Given the description of an element on the screen output the (x, y) to click on. 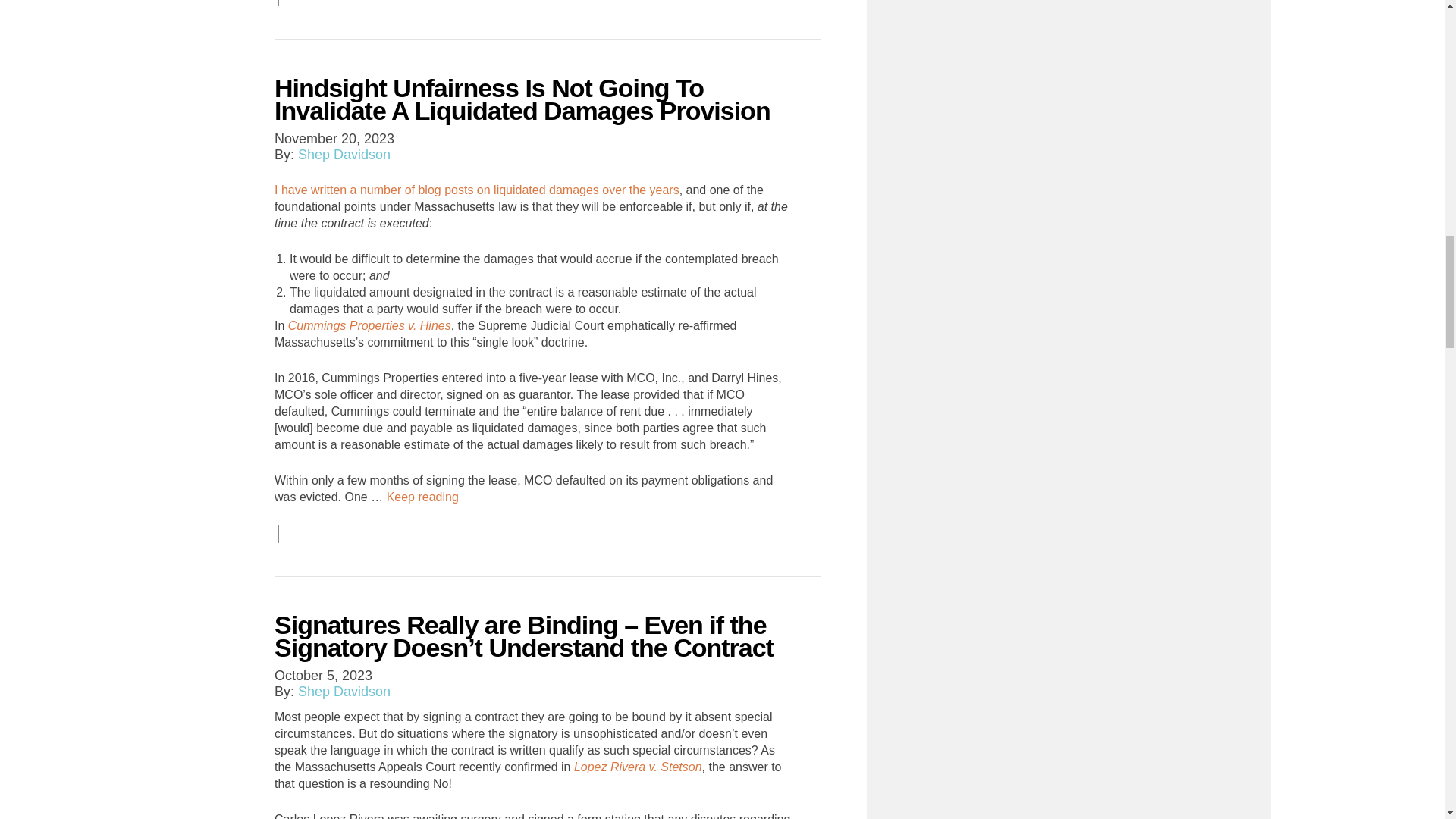
Monday, November 20, 2023, 12:54 pm (334, 138)
Shep Davidson (344, 154)
Shep Davidson (344, 154)
Thursday, October 5, 2023, 2:21 pm (323, 675)
Cummings Properties v. Hines (369, 326)
Shep Davidson (344, 691)
Keep reading (422, 497)
Shep Davidson (344, 691)
Lopez Rivera v. Stetson (637, 767)
